Given the description of an element on the screen output the (x, y) to click on. 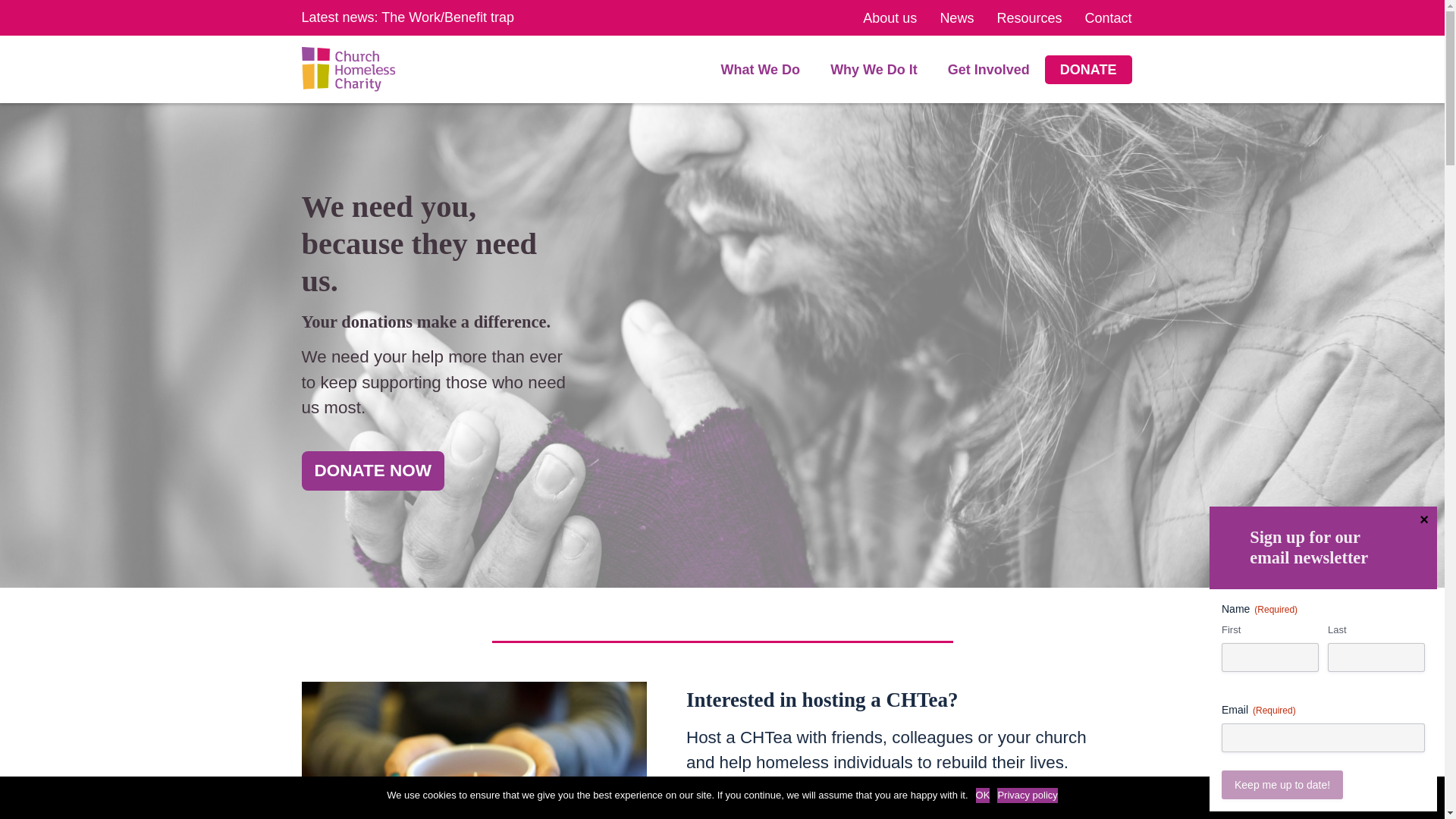
Keep me up to date! (1281, 784)
Get Involved (988, 69)
No (1425, 797)
Church Homeless Charity (347, 68)
What We Do (759, 69)
DONATE (1087, 69)
Why We Do It (873, 69)
DONATE NOW (373, 470)
Resources (1028, 18)
News (956, 18)
About us (890, 18)
Contact (1107, 18)
